Given the description of an element on the screen output the (x, y) to click on. 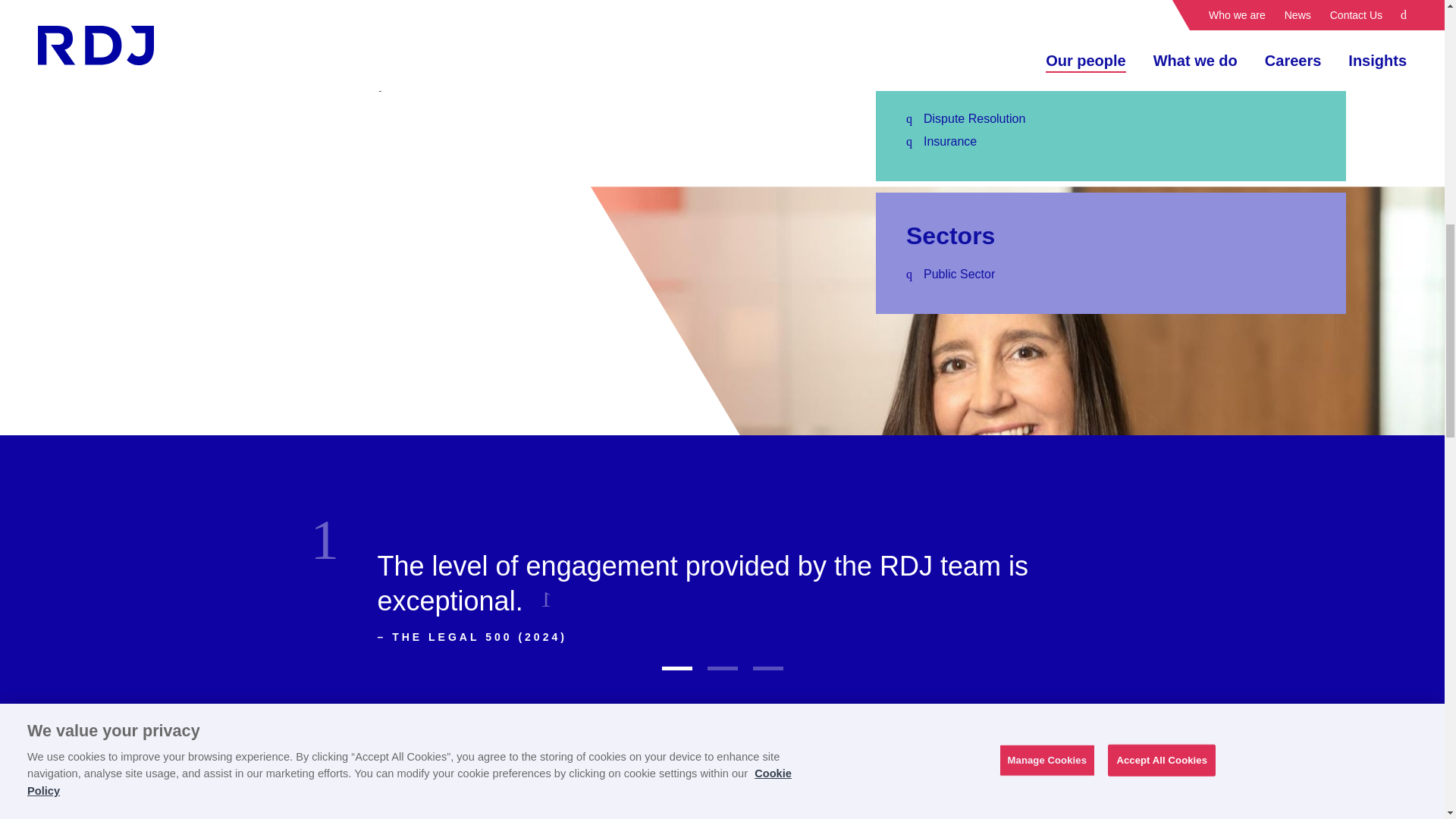
Dispute Resolution (974, 118)
1 (676, 668)
Public Sector (958, 274)
Email Louise (935, 10)
2 (721, 668)
Insurance (949, 141)
3 (767, 668)
Print profile (1238, 10)
Connect on LinkedIn (1080, 10)
